Given the description of an element on the screen output the (x, y) to click on. 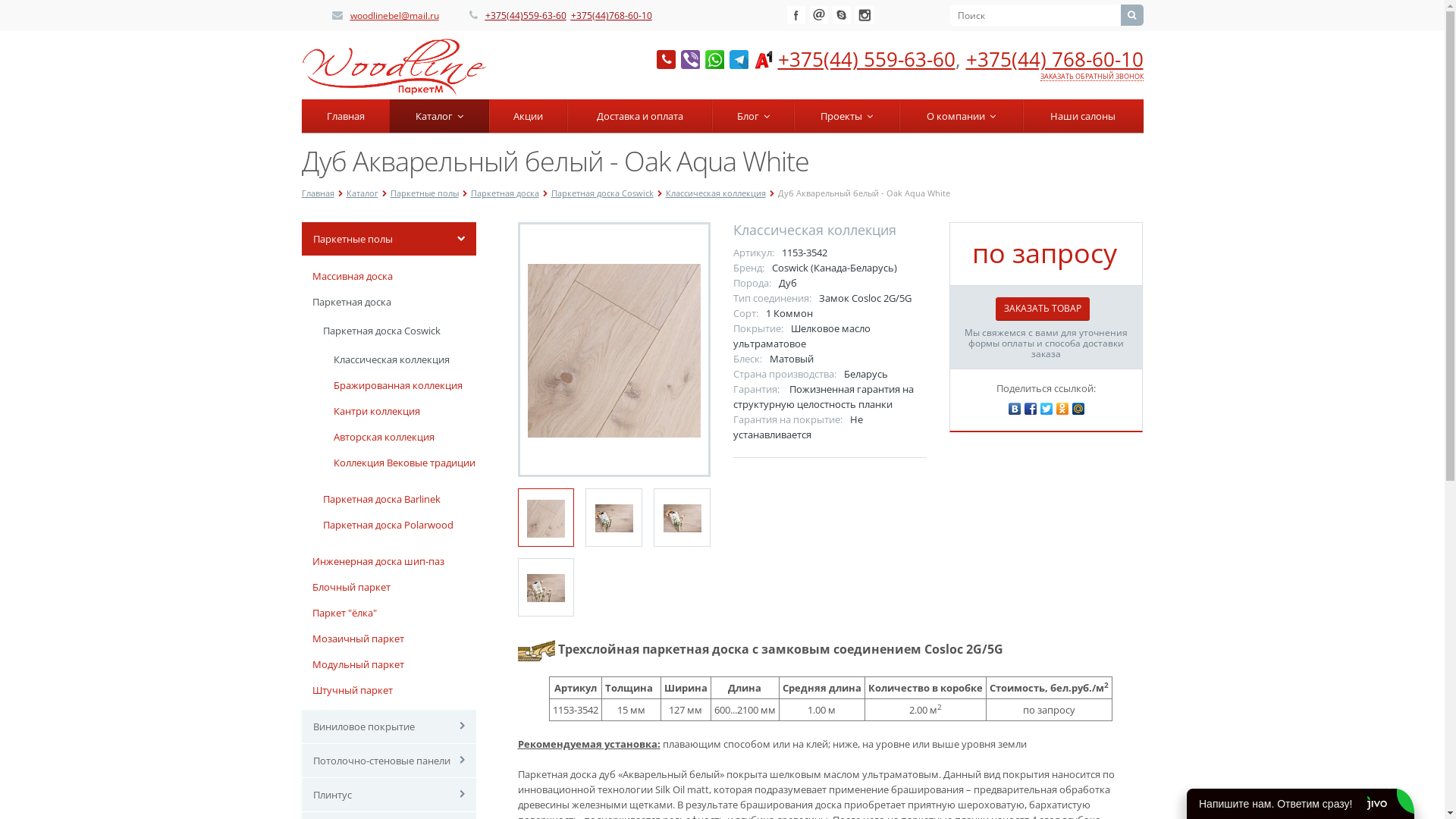
telegram_icon.png Element type: hover (738, 59)
whatsapp_icon.png Element type: hover (714, 59)
Facebook Element type: hover (1030, 404)
Facebook Element type: text (796, 15)
+375(44) 768-60-10 Element type: text (1054, 58)
woodlinebel@mail.ru Element type: text (394, 15)
Twitter Element type: hover (1046, 404)
viber_icon.png Element type: hover (689, 59)
a1_icon.png Element type: hover (762, 59)
Mail.ru Element type: text (818, 15)
+375(44)559-63-60 Element type: text (525, 15)
+375(44) 559-63-60 Element type: text (866, 58)
+375(44)768-60-10 Element type: text (610, 15)
